Given the description of an element on the screen output the (x, y) to click on. 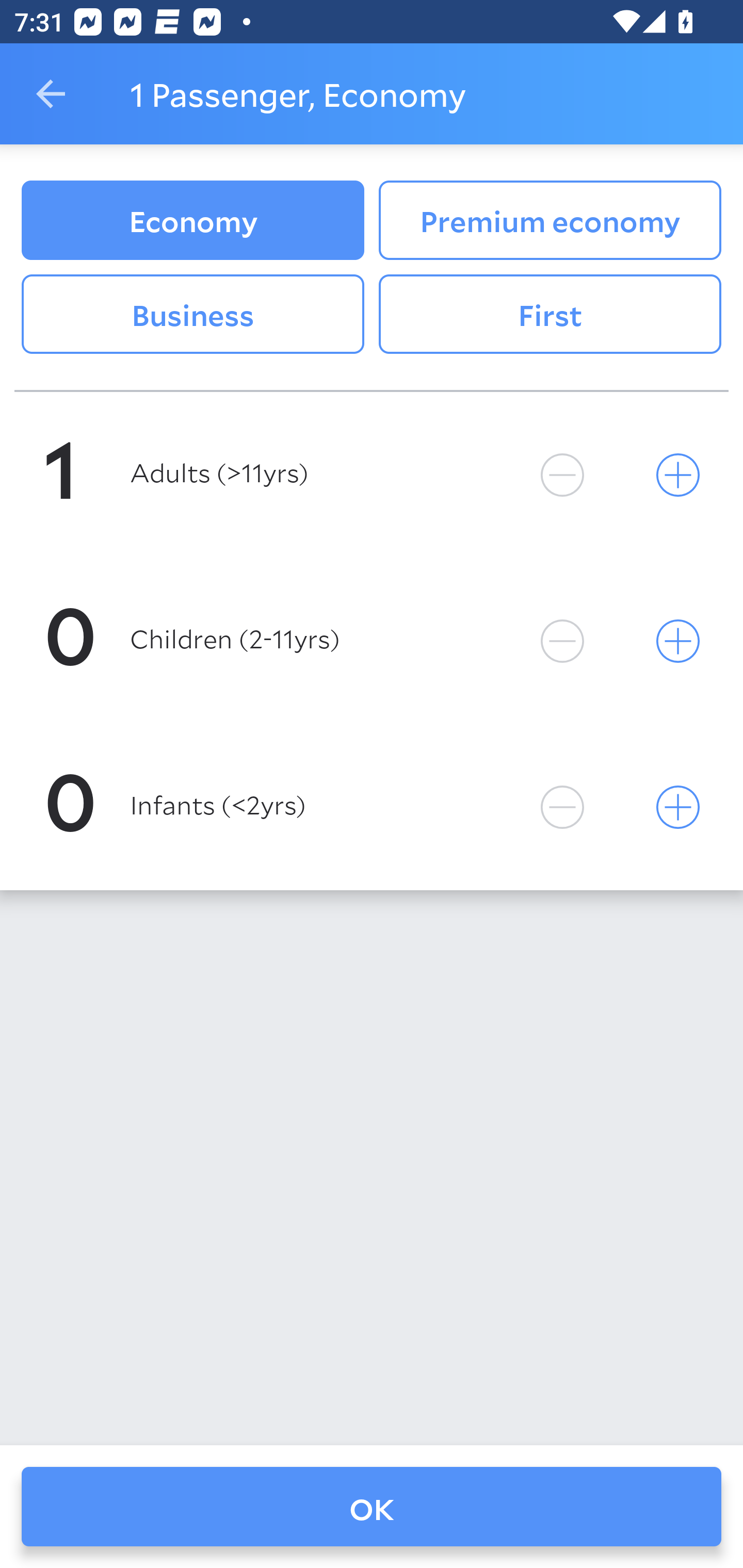
Navigate up (50, 93)
Economy (192, 220)
Premium economy (549, 220)
Business (192, 314)
First (549, 314)
OK (371, 1506)
